Given the description of an element on the screen output the (x, y) to click on. 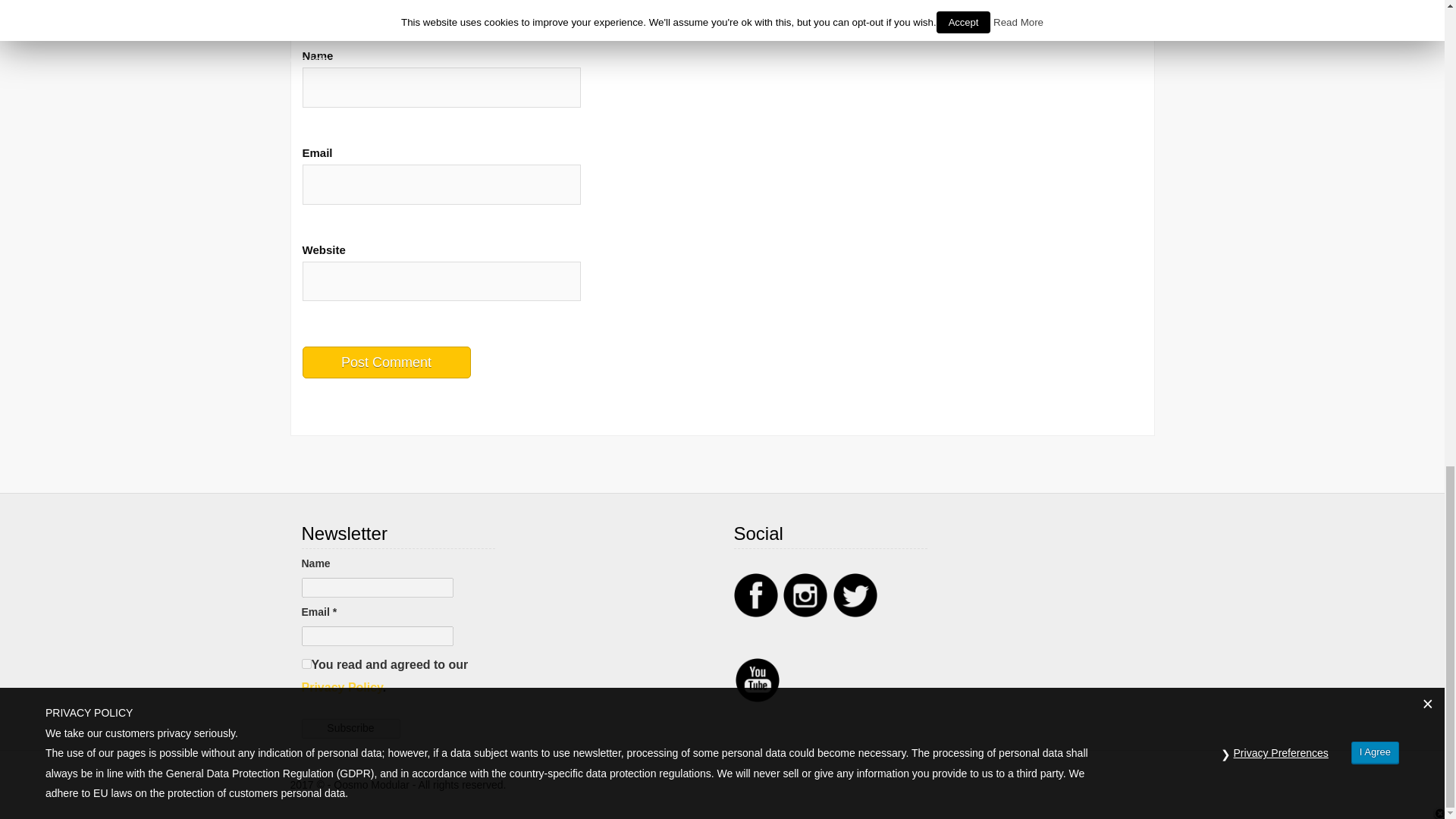
Post Comment (385, 362)
Subscribe (350, 728)
Subscribe (350, 728)
Post Comment (385, 362)
1 (306, 664)
Privacy Policy (341, 686)
